Given the description of an element on the screen output the (x, y) to click on. 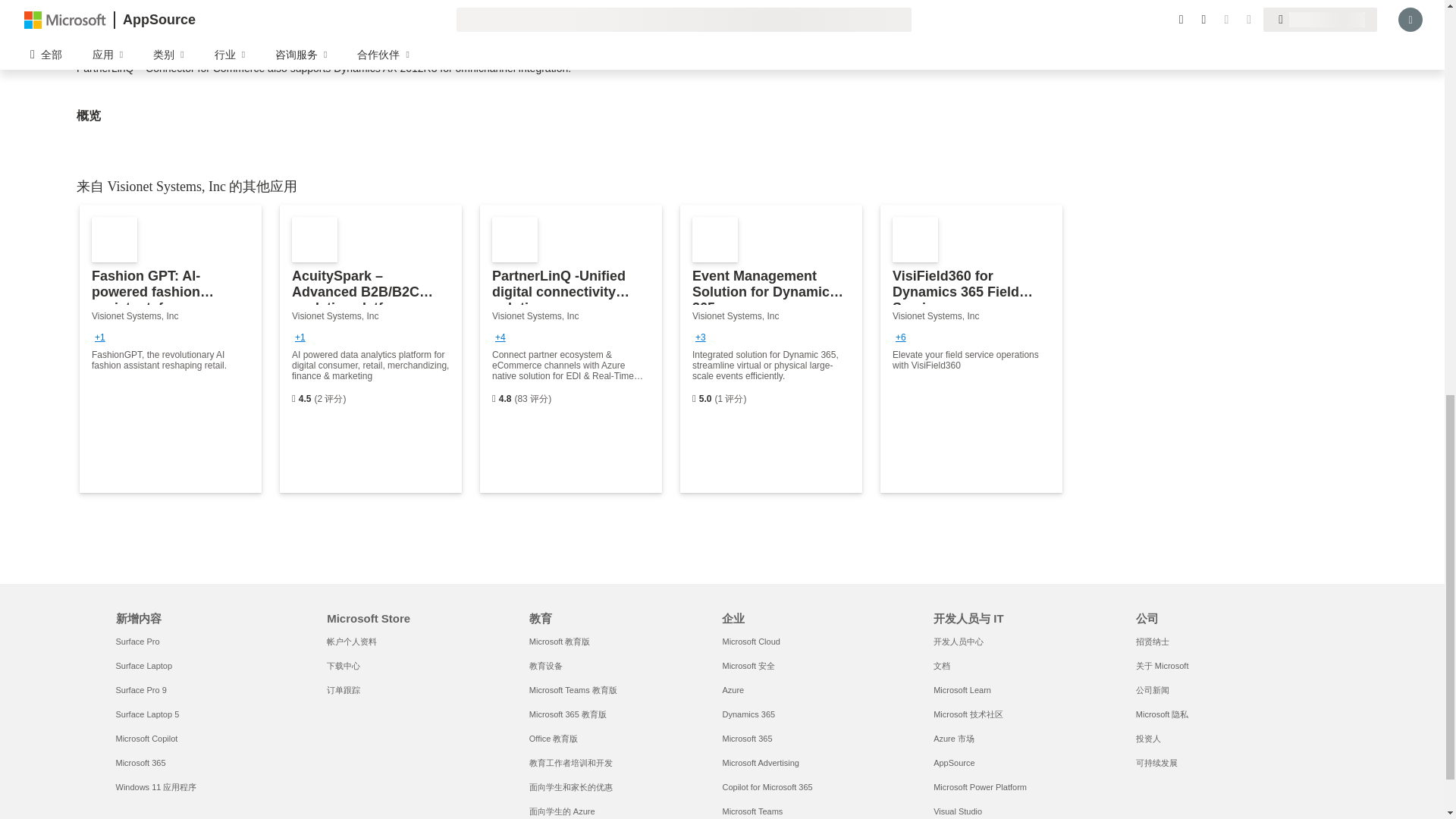
Surface Laptop 5 (147, 714)
PartnerLinQ -Unified digital connectivity solution (571, 348)
Surface Pro (136, 641)
Microsoft Copilot (146, 737)
Surface Pro 9 (140, 689)
VisiField360 for Dynamics 365 Field Service (971, 348)
Event Management Solution for Dynamic 365 (770, 348)
Surface Laptop (143, 665)
Microsoft 365 (140, 762)
